Given the description of an element on the screen output the (x, y) to click on. 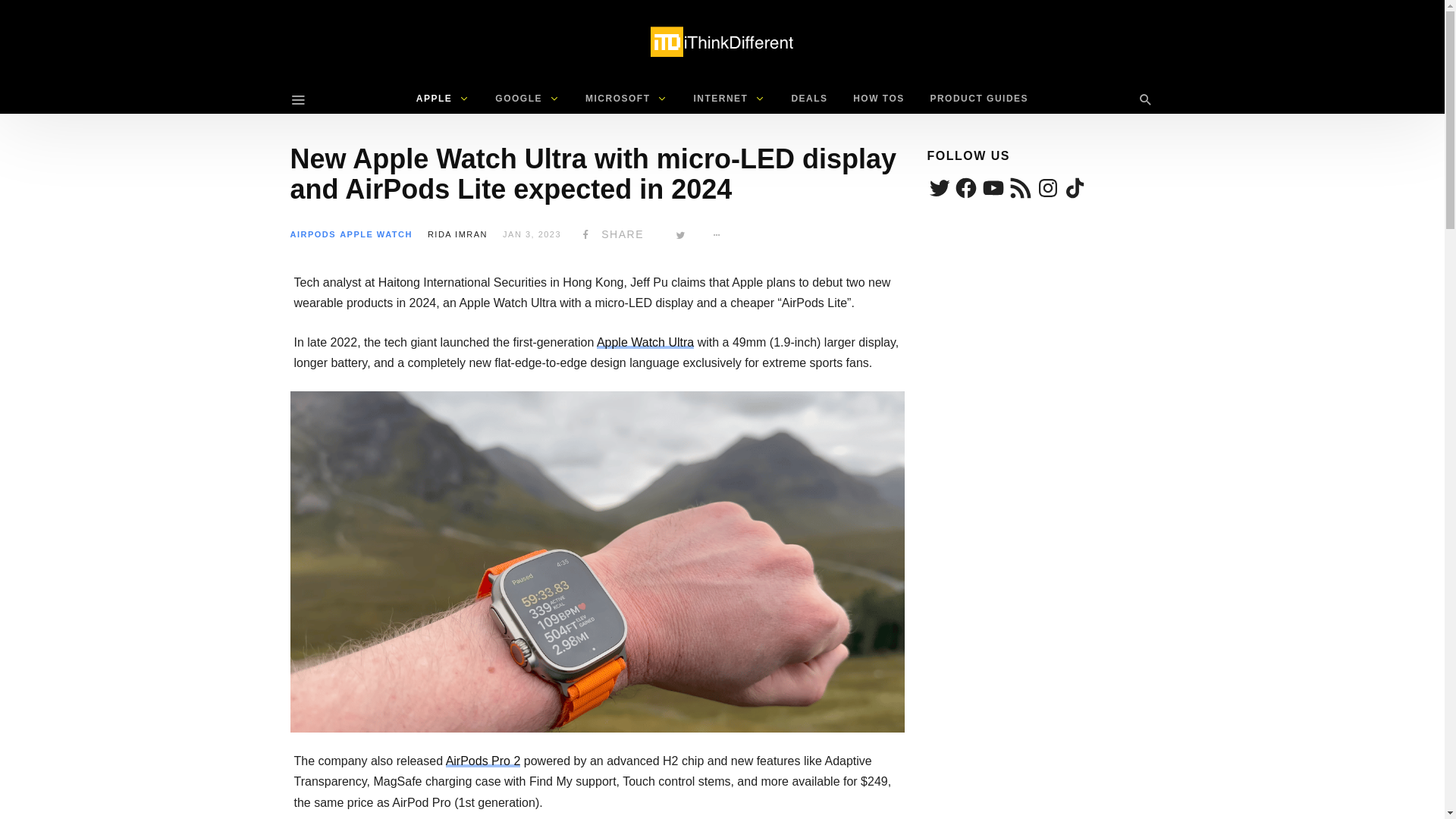
GOOGLE (526, 98)
DEALS (808, 98)
PRODUCT GUIDES (978, 98)
APPLE WATCH (375, 234)
Share on Twitter (680, 234)
Share on Facebook (609, 234)
View all posts in AirPods (312, 234)
INTERNET (728, 98)
MICROSOFT (626, 98)
HOW TOS (878, 98)
SHARE (609, 234)
AIRPODS (312, 234)
APPLE (442, 98)
RIDA IMRAN (457, 234)
View all posts in Apple Watch (375, 234)
